Given the description of an element on the screen output the (x, y) to click on. 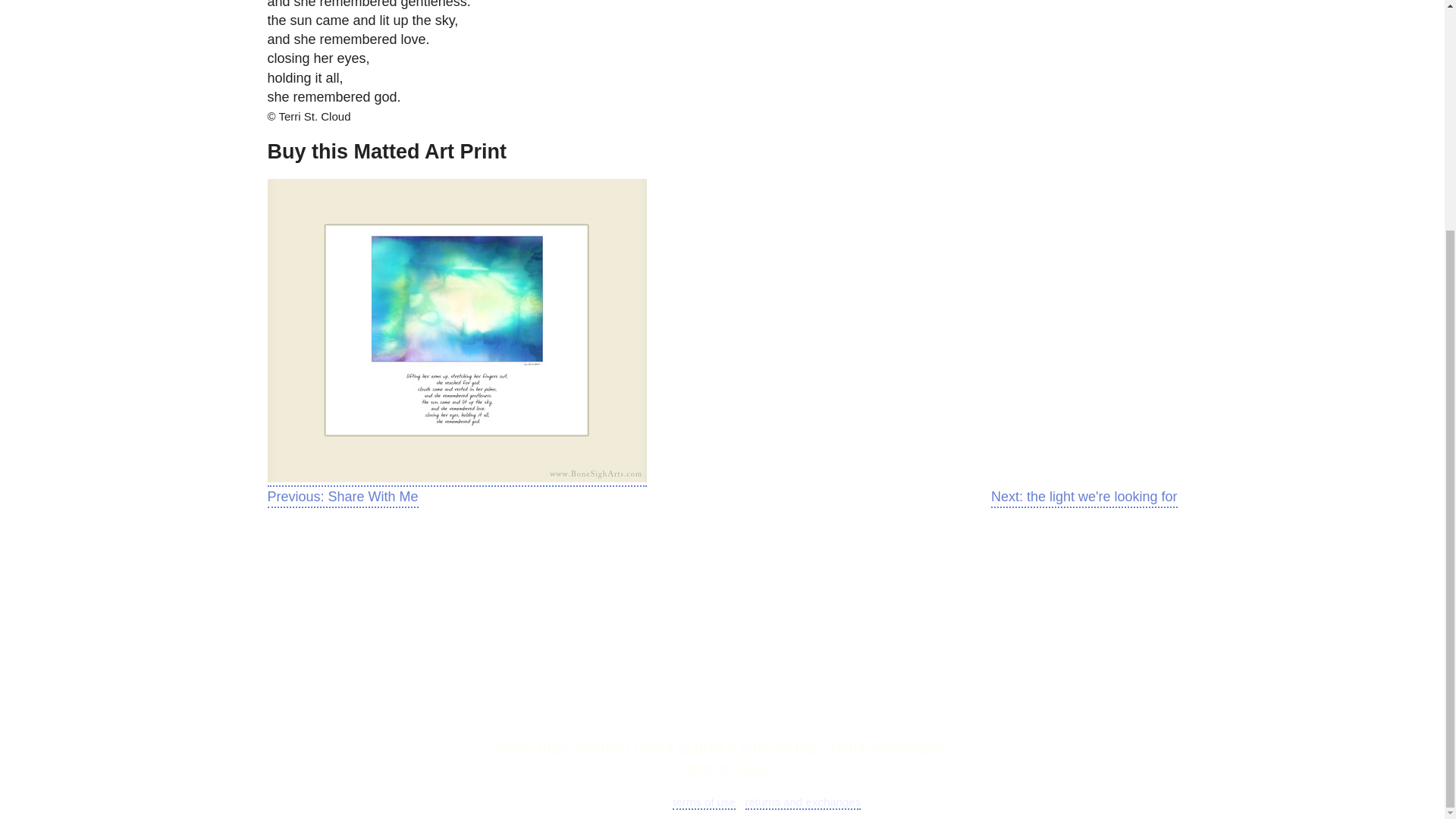
Next: the light we're looking for (1084, 497)
Previous: Share With Me (341, 497)
terms of use (703, 802)
returns and exchanges (802, 802)
